Given the description of an element on the screen output the (x, y) to click on. 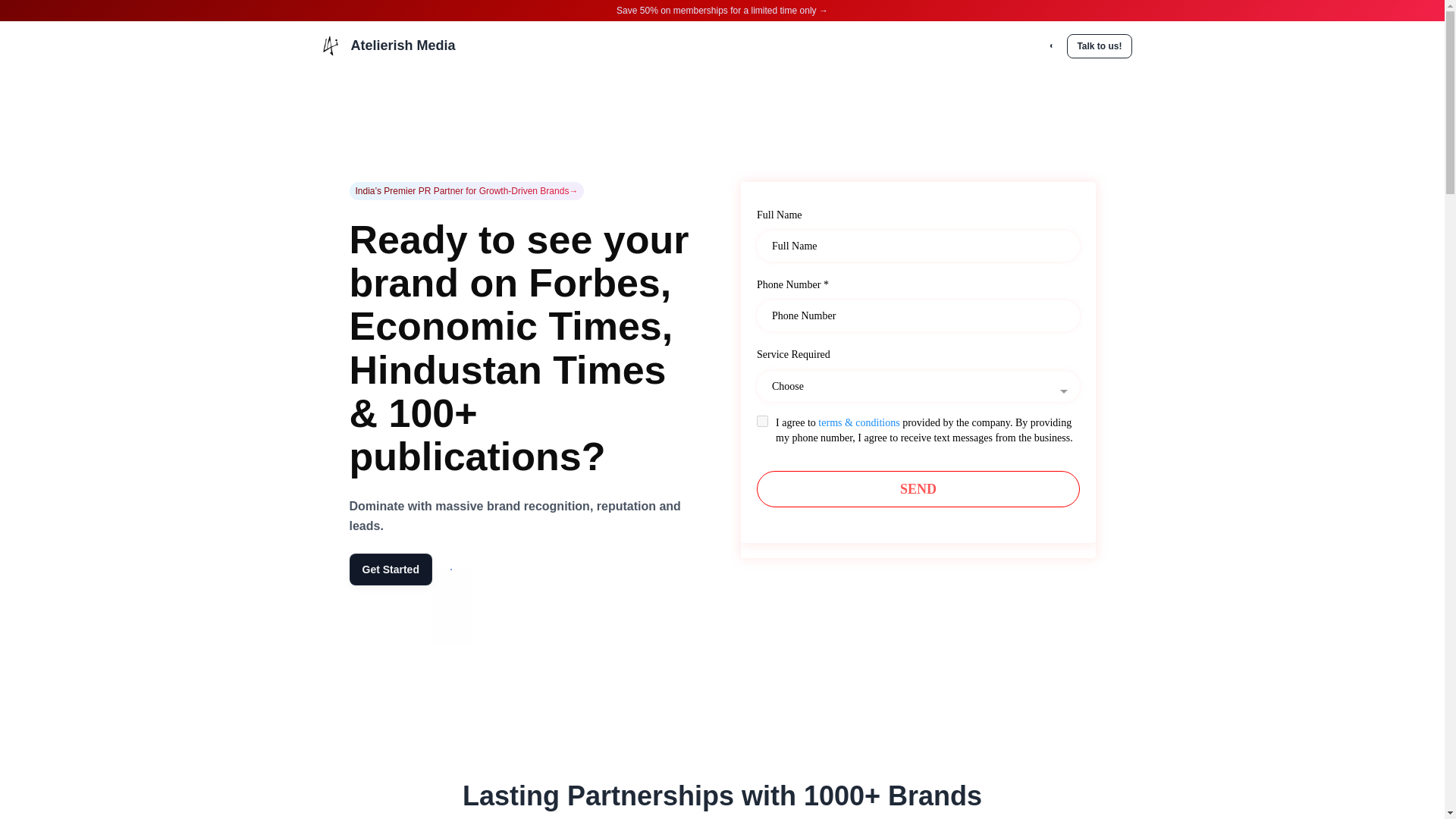
Get Started (390, 569)
Atelierish Media PR (916, 369)
Talk to us! (1099, 45)
Atelierish Media (402, 45)
